Given the description of an element on the screen output the (x, y) to click on. 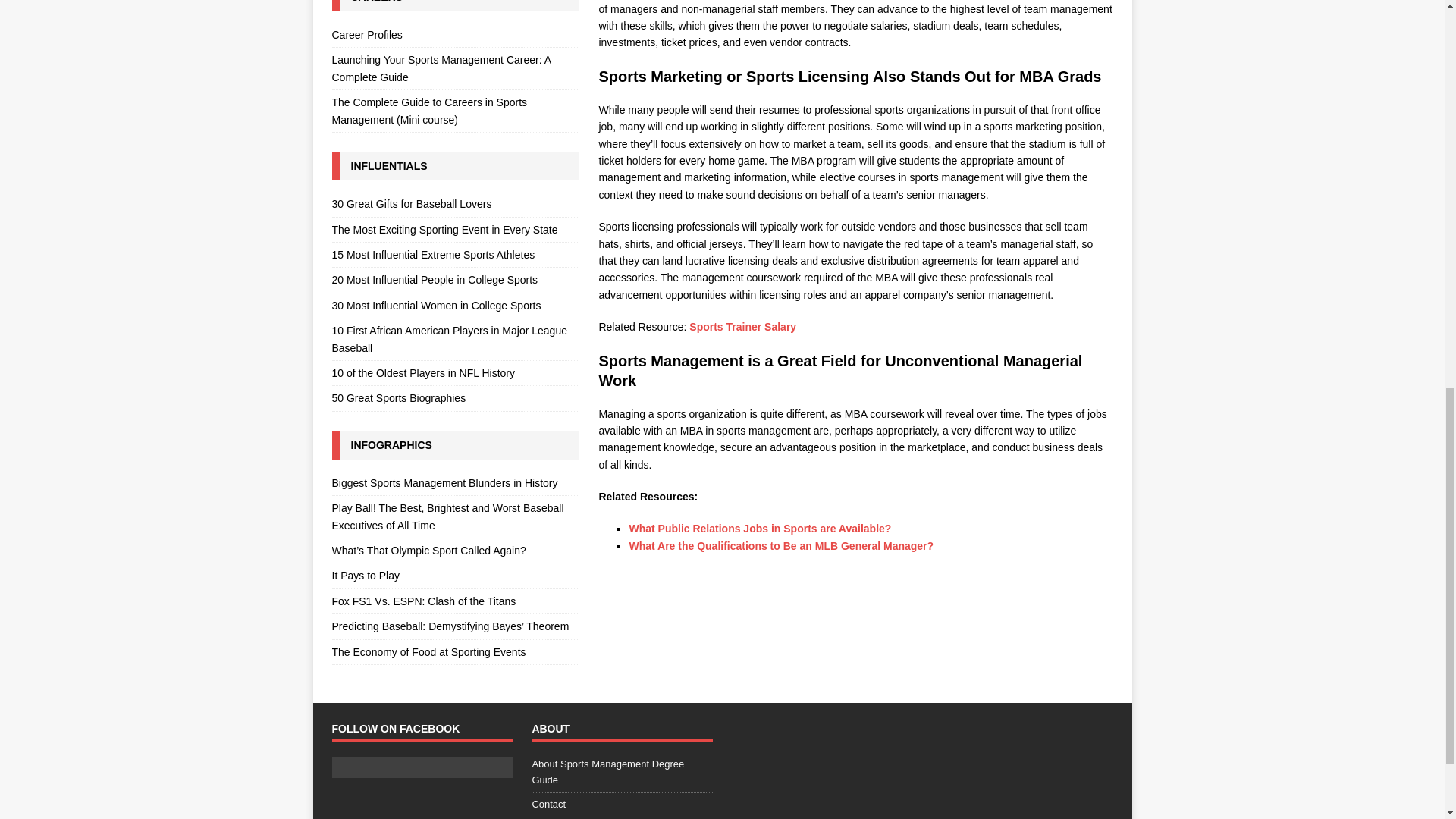
30 Most Influential Women in College Sports (455, 305)
Career Profiles (455, 36)
The Most Exciting Sporting Event in Every State (455, 229)
15 Most Influential Extreme Sports Athletes (455, 254)
Sports Trainer Salary (742, 326)
50 Great Sports Biographies (455, 397)
Launching Your Sports Management Career: A Complete Guide (455, 68)
What Are the Qualifications to Be an MLB General Manager? (780, 545)
10 of the Oldest Players in NFL History (455, 372)
30 Great Gifts for Baseball Lovers (455, 205)
20 Most Influential People in College Sports (455, 279)
What Public Relations Jobs in Sports are Available? (759, 528)
10 First African American Players in Major League Baseball (455, 339)
How Much Does a Sports Trainer Make? (742, 326)
